Given the description of an element on the screen output the (x, y) to click on. 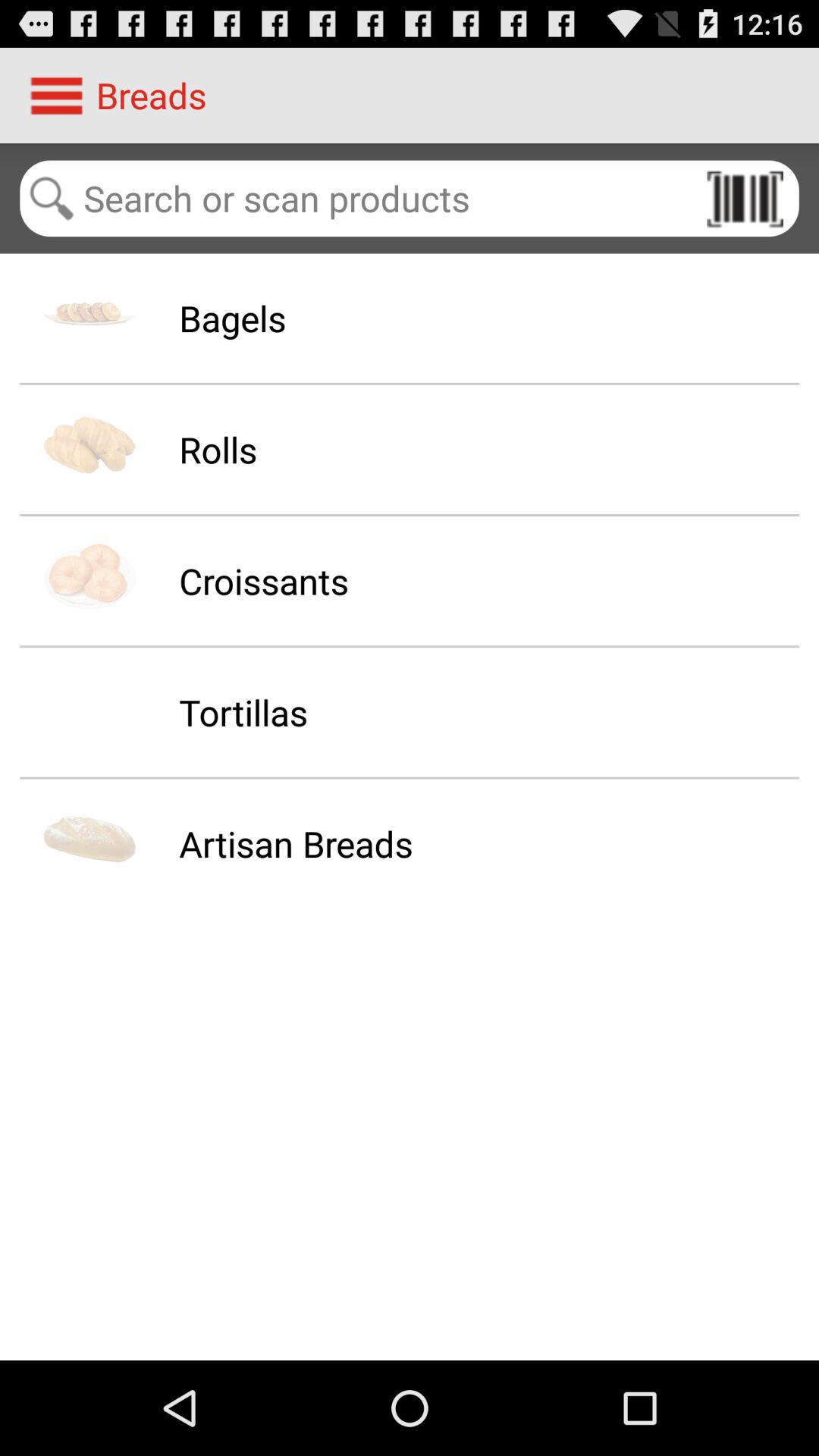
the menu icon shown at the top left corner of the page (55, 95)
